Given the description of an element on the screen output the (x, y) to click on. 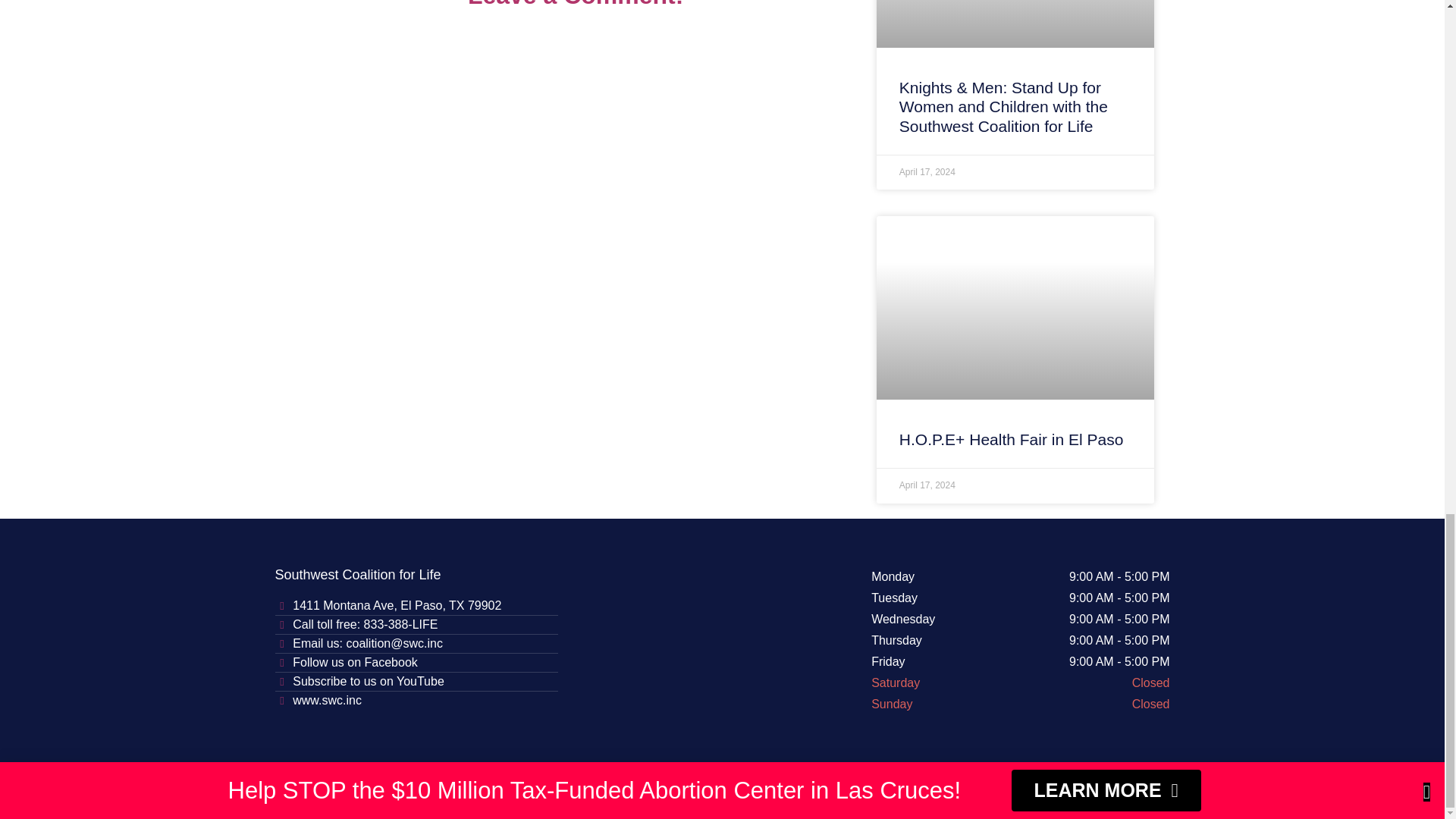
1411 Montana Ave, El Paso, TX 79902 (416, 606)
Southwest Coalition for Life (713, 641)
Call toll free: 833-388-LIFE (416, 624)
